Given the description of an element on the screen output the (x, y) to click on. 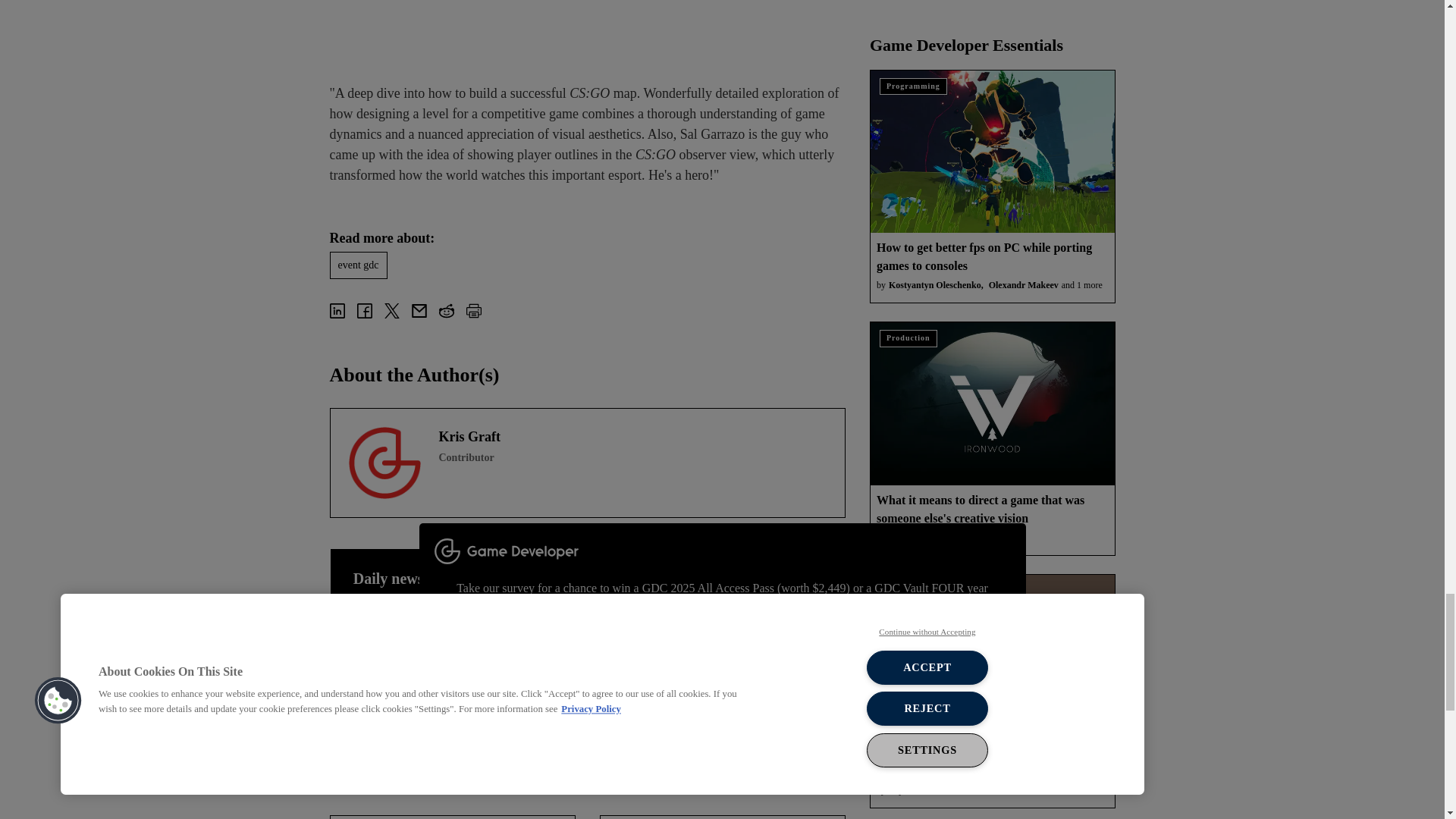
Kris Graft (384, 462)
Embedded content (586, 27)
